Given the description of an element on the screen output the (x, y) to click on. 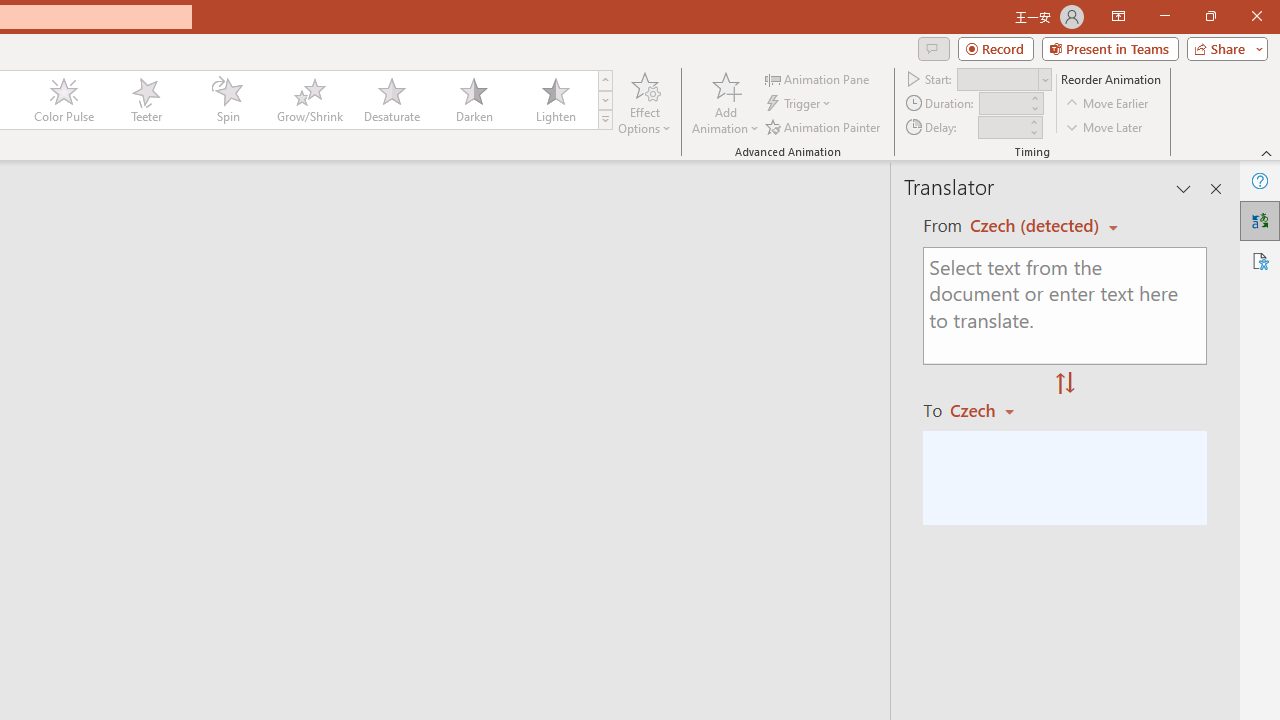
Lighten (555, 100)
Move Later (1105, 126)
Animation Painter (824, 126)
